Given the description of an element on the screen output the (x, y) to click on. 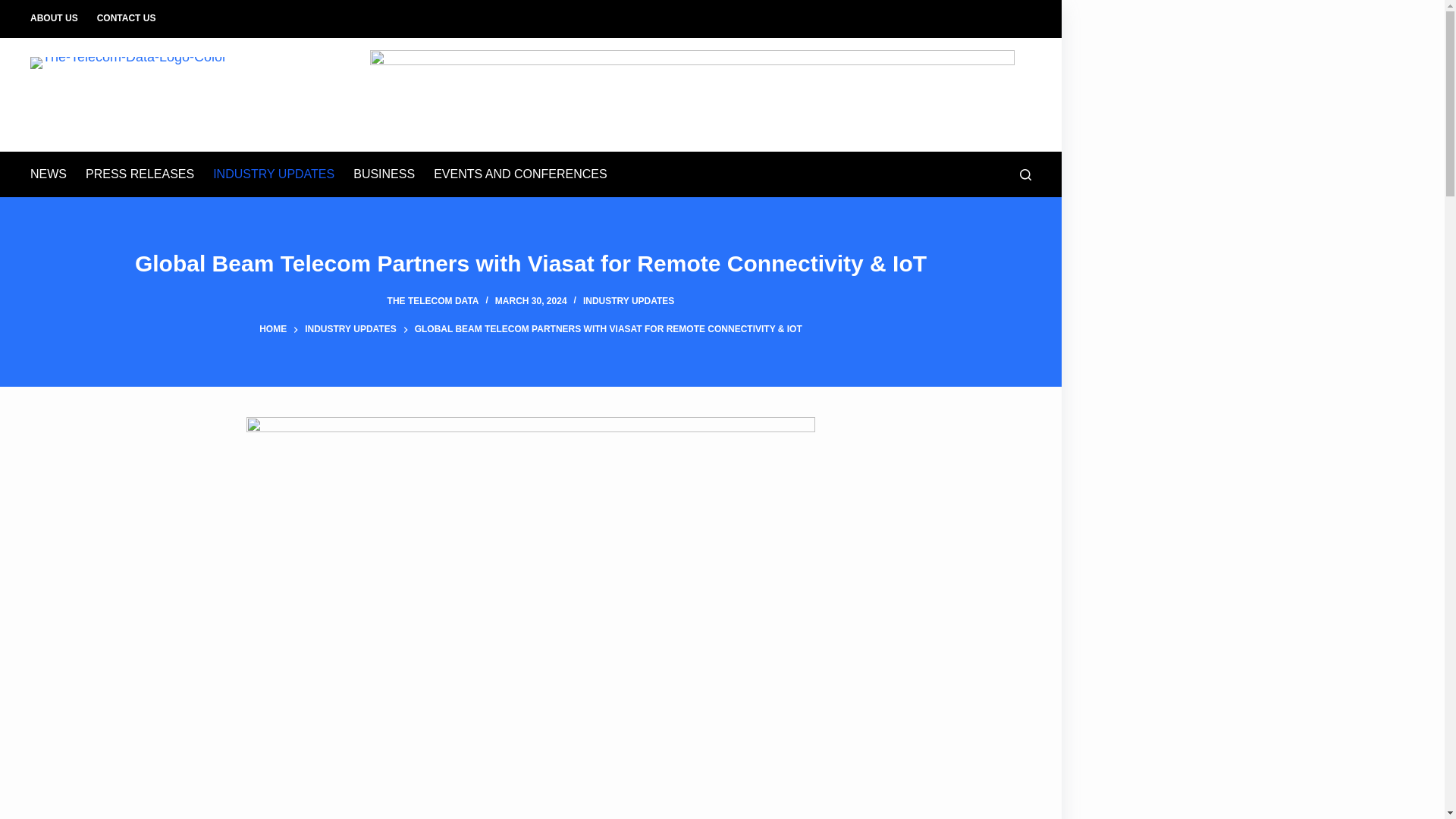
Skip to content (15, 7)
Posts by The Telecom Data (433, 300)
BUSINESS (384, 174)
NEWS (53, 174)
CONTACT US (126, 18)
PRESS RELEASES (139, 174)
THE TELECOM DATA (433, 300)
ABOUT US (58, 18)
EVENTS AND CONFERENCES (520, 174)
INDUSTRY UPDATES (350, 329)
INDUSTRY UPDATES (628, 300)
HOME (272, 329)
INDUSTRY UPDATES (273, 174)
